Given the description of an element on the screen output the (x, y) to click on. 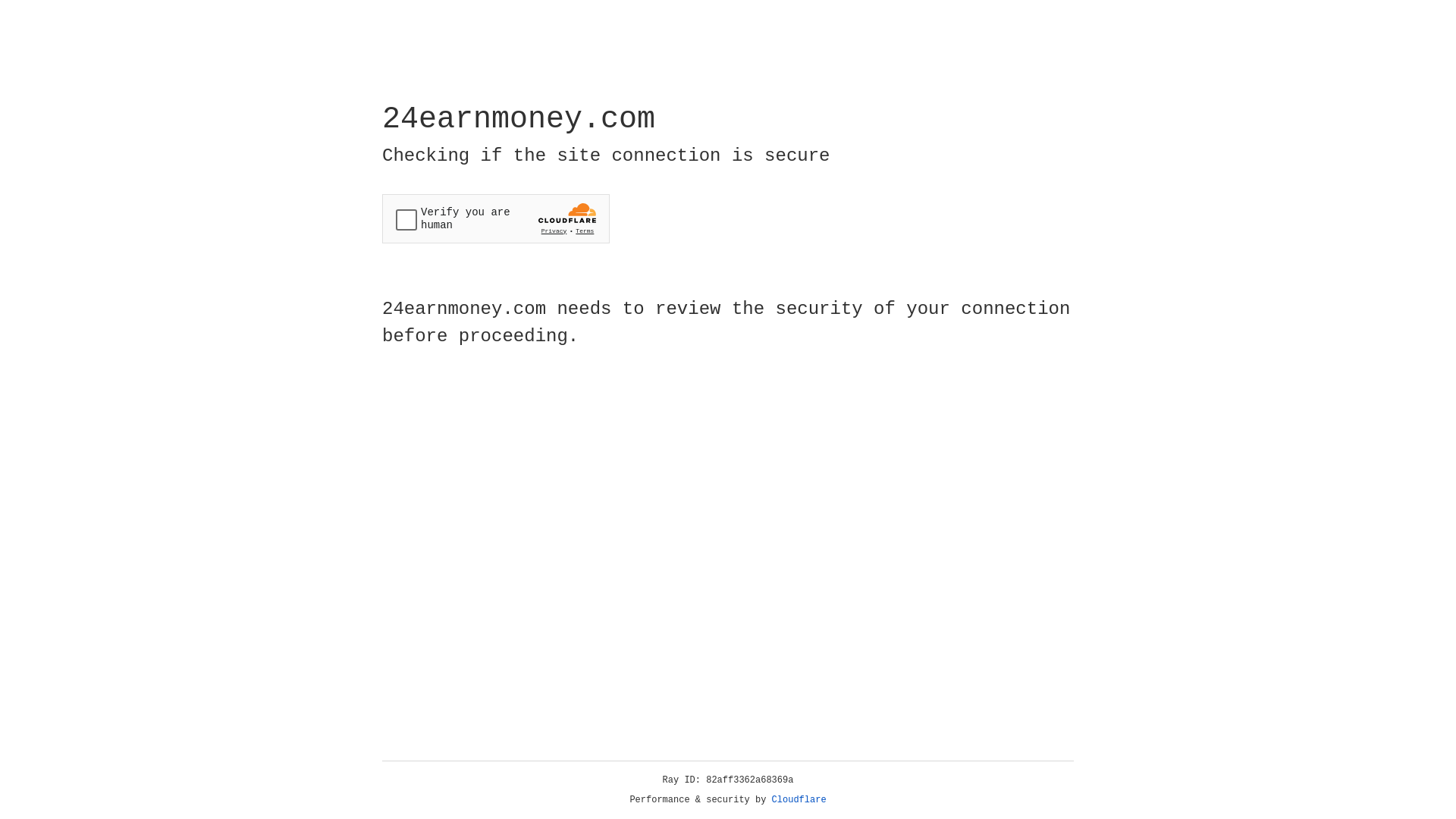
Widget containing a Cloudflare security challenge Element type: hover (495, 218)
Cloudflare Element type: text (798, 799)
